Given the description of an element on the screen output the (x, y) to click on. 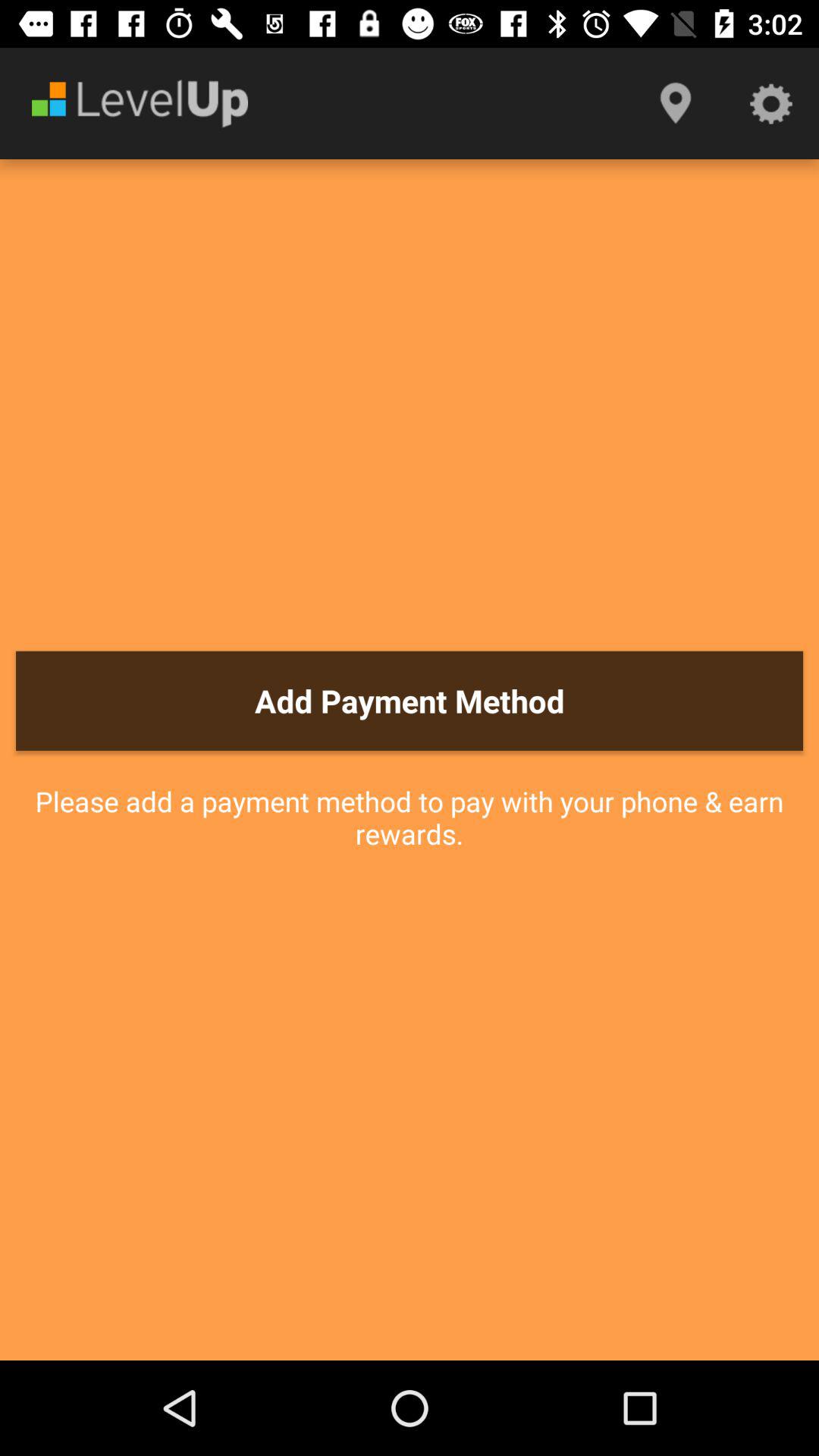
open the item above the add payment method (771, 103)
